Given the description of an element on the screen output the (x, y) to click on. 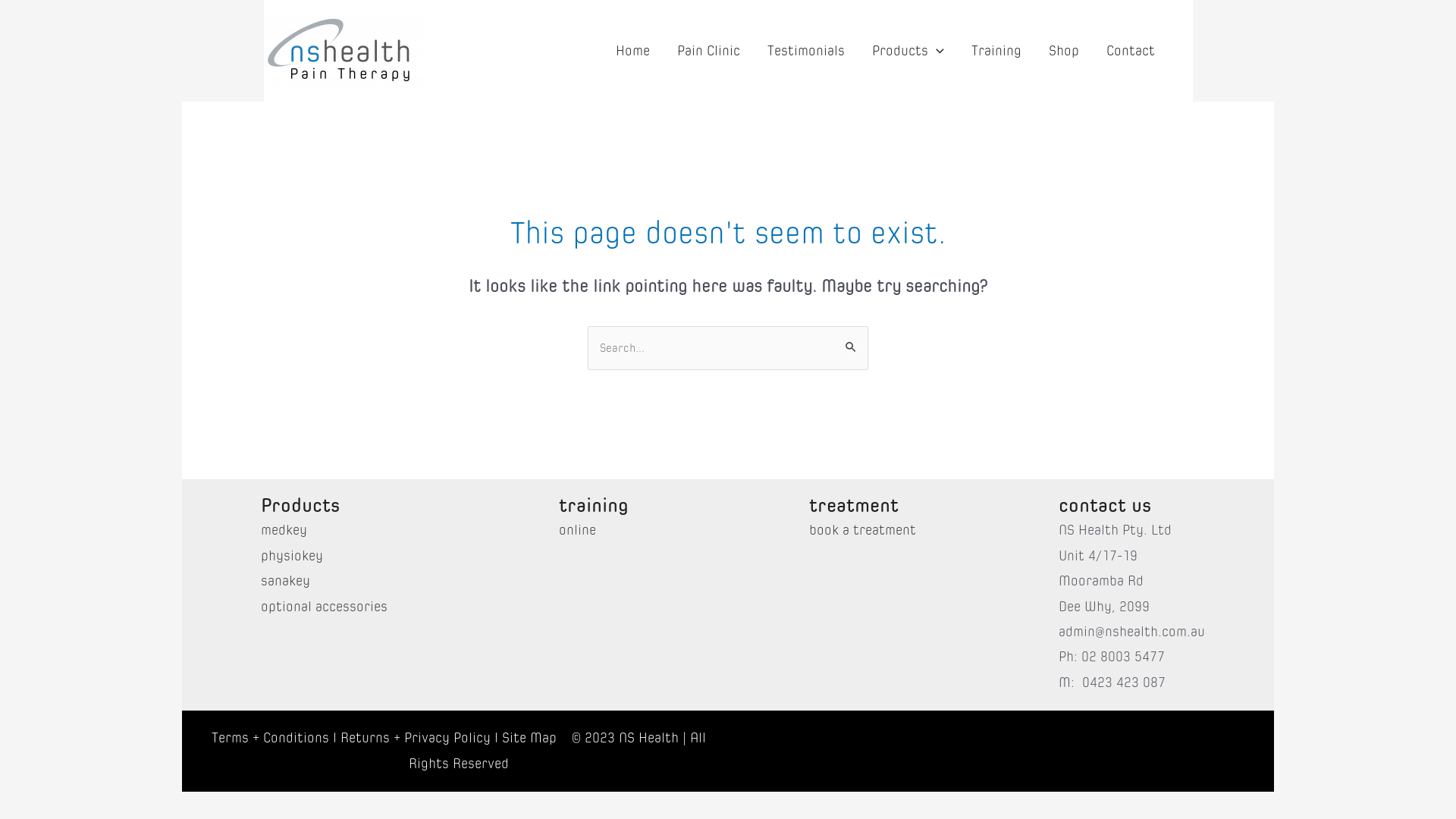
Shop Element type: text (1063, 50)
physiokey Element type: text (291, 555)
online Element type: text (576, 529)
Returns + Privacy Policy Element type: text (415, 737)
Contact Element type: text (1129, 50)
Training Element type: text (995, 50)
Terms + Conditions Element type: text (270, 737)
Search Element type: text (851, 341)
sanakey Element type: text (285, 580)
Site Map Element type: text (529, 737)
Testimonials Element type: text (805, 50)
optional accessories Element type: text (323, 606)
Home Element type: text (632, 50)
book a treatment Element type: text (862, 529)
medkey Element type: text (283, 529)
Pain Clinic Element type: text (708, 50)
Products Element type: text (907, 50)
